Given the description of an element on the screen output the (x, y) to click on. 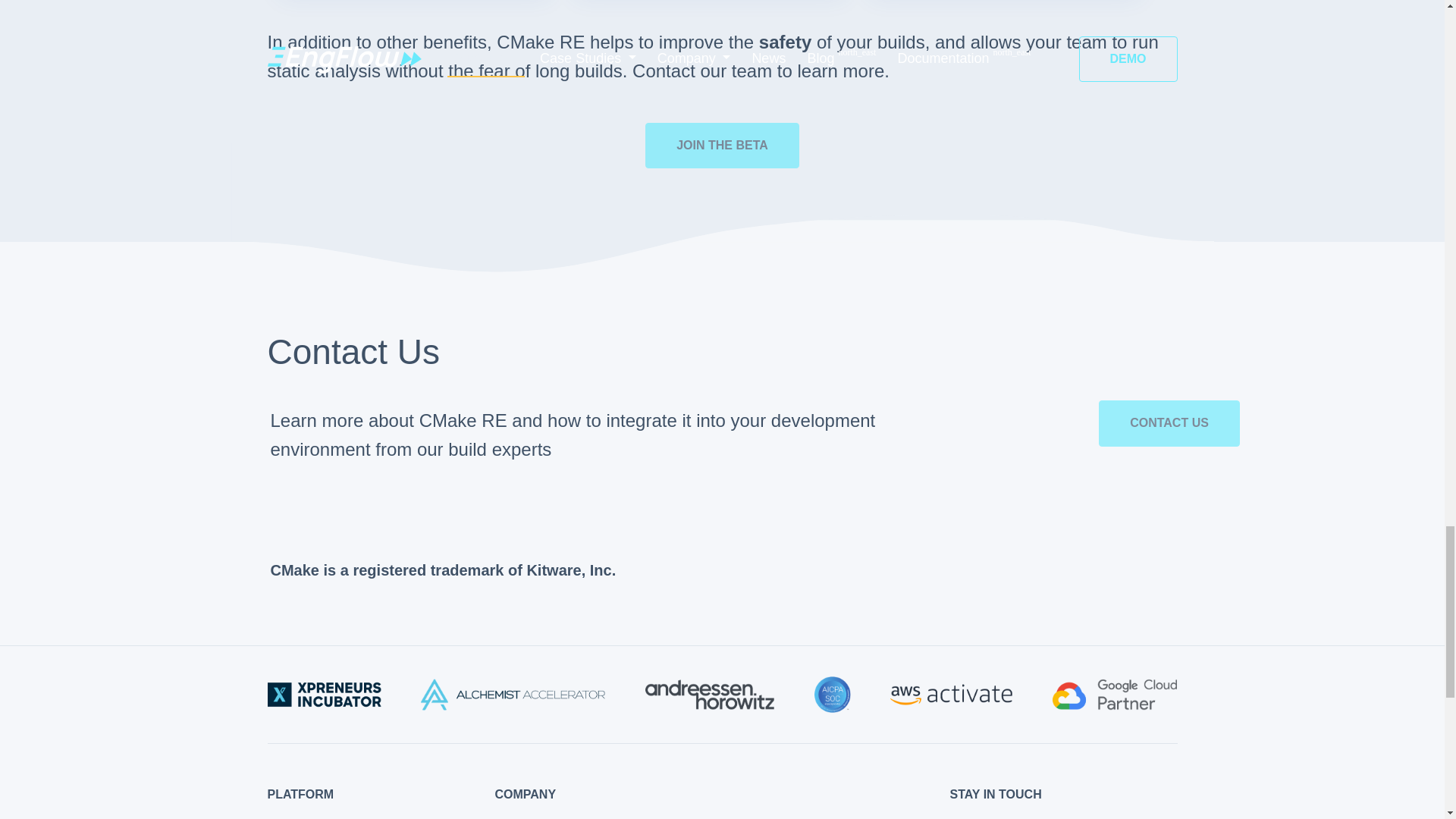
Google Cloud Partner (1114, 694)
Andreessen Horowitz (709, 694)
Alchemist Accelerator (512, 694)
Xpreneurs Incubator (323, 694)
SOC 2 Compliance (831, 694)
AWS Activate (950, 694)
